Given the description of an element on the screen output the (x, y) to click on. 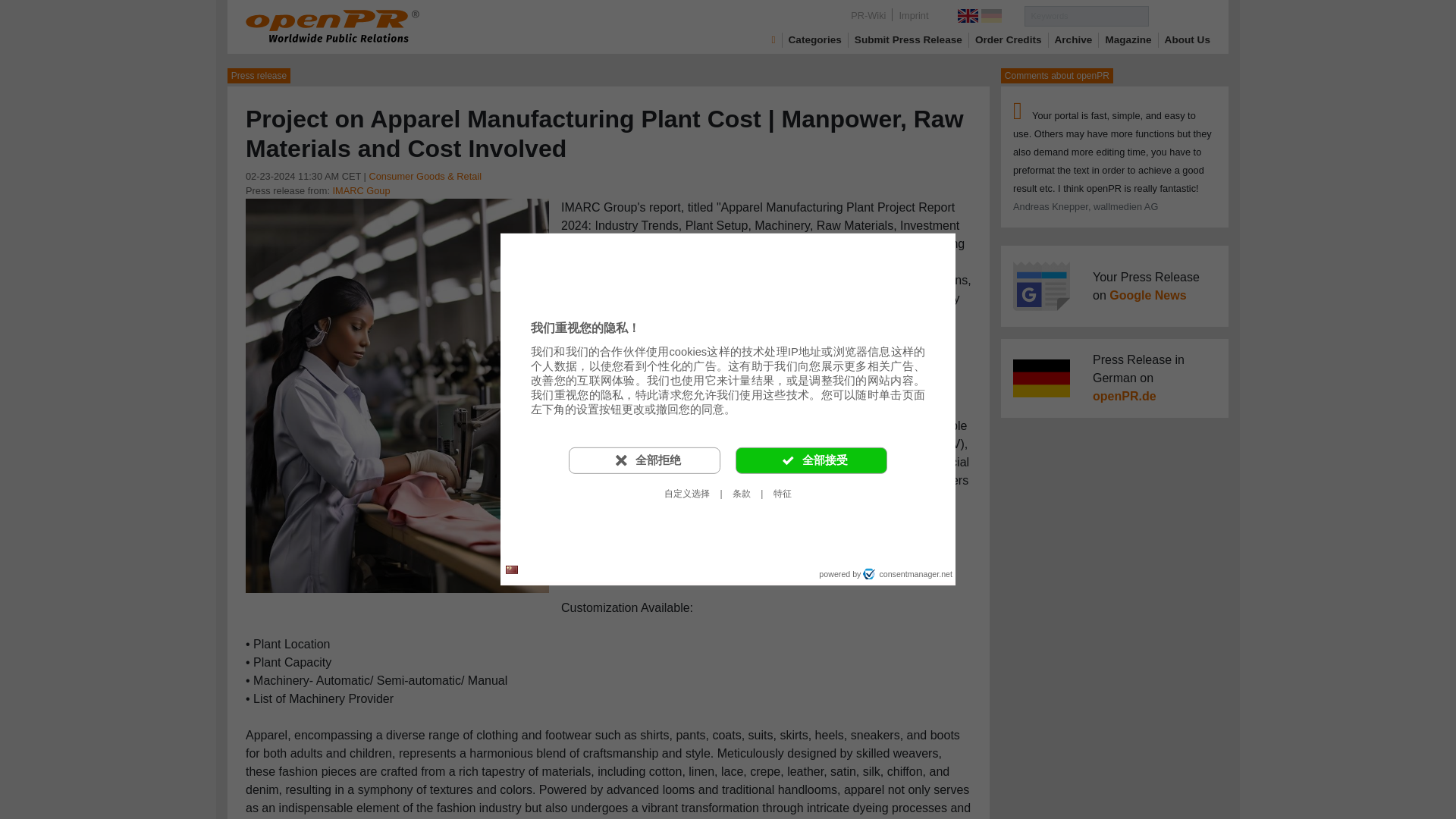
About Us (1186, 39)
Language: zh (511, 569)
Categories (815, 39)
Order Credits (1008, 39)
Archive (1073, 39)
Magazine (1128, 39)
Search   (1178, 15)
PR-Wiki (867, 15)
archive und pressrelease of IMARC Goup (360, 190)
Submit Press Release (908, 39)
